Given the description of an element on the screen output the (x, y) to click on. 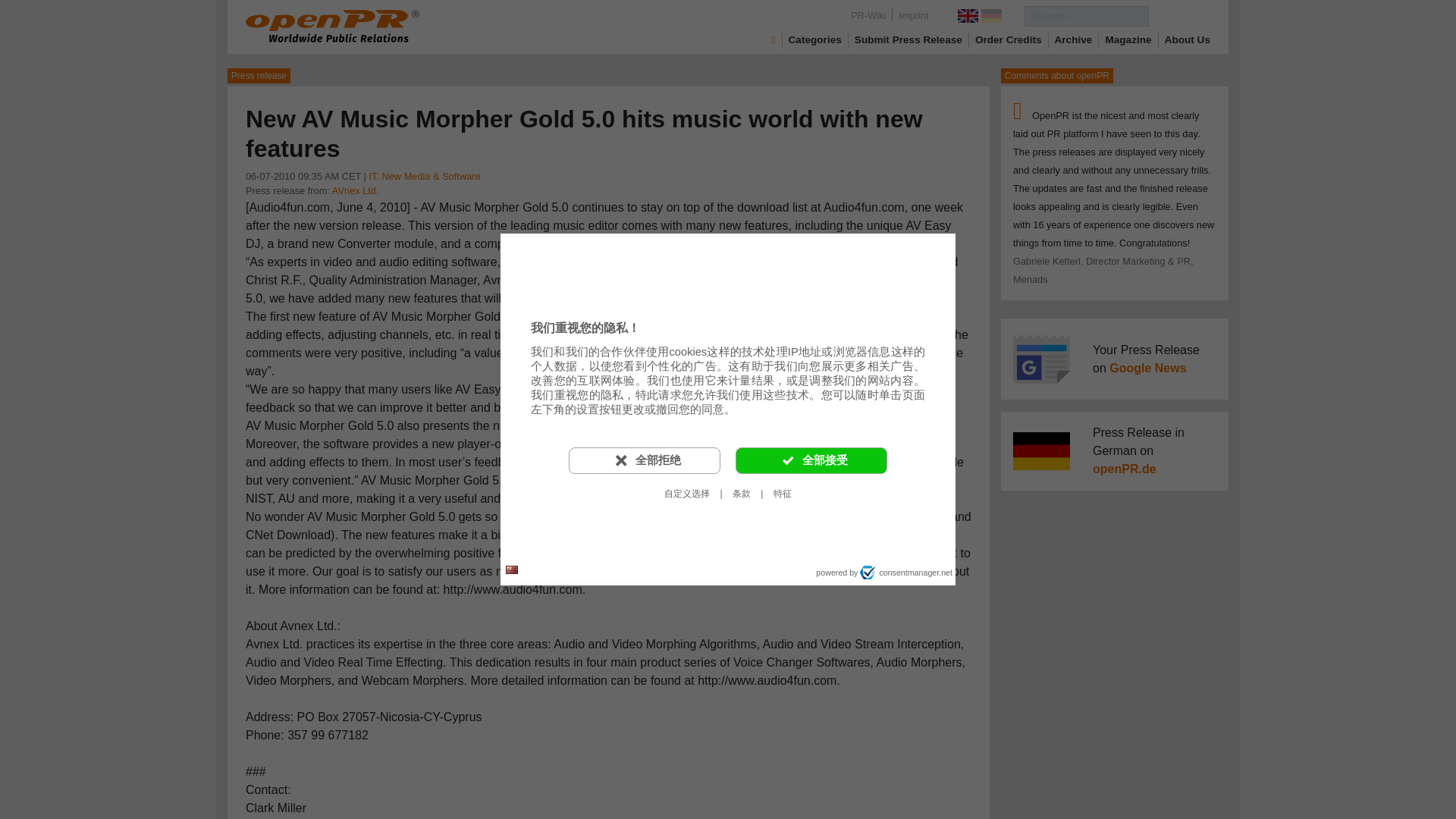
Archive (1073, 39)
Language: zh (511, 569)
Submit Press Release (908, 39)
Imprint (913, 15)
Language: zh (511, 569)
PR-Wiki (867, 15)
consentmanager.net (906, 572)
About Us (1186, 39)
Search   (1178, 15)
Magazine (1128, 39)
archive und pressrelease of AVnex Ltd. (354, 190)
Order Credits (1008, 39)
Categories (815, 39)
